Given the description of an element on the screen output the (x, y) to click on. 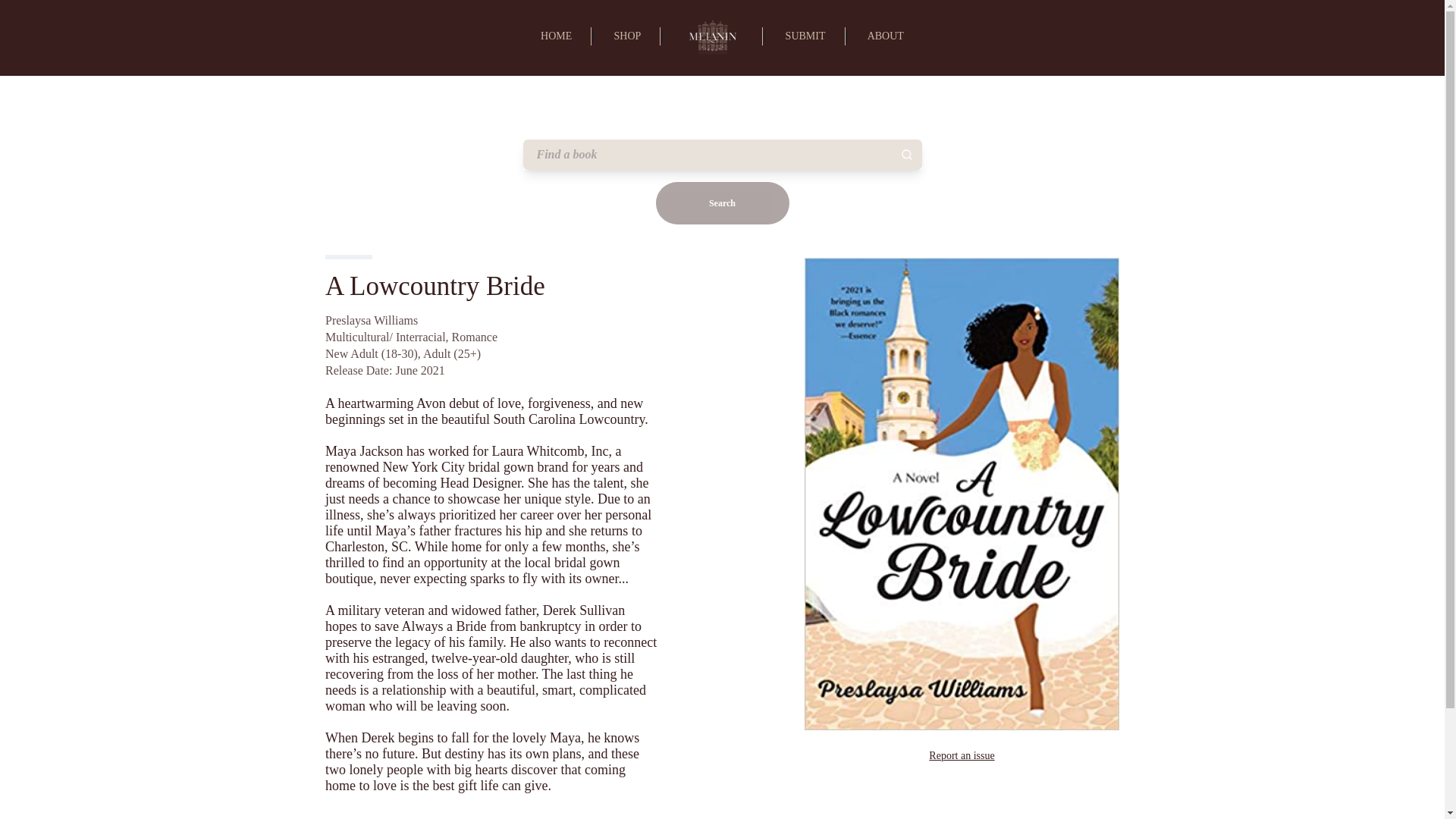
ABOUT (885, 35)
SHOP (626, 35)
Search (722, 202)
HOME (556, 35)
